Given the description of an element on the screen output the (x, y) to click on. 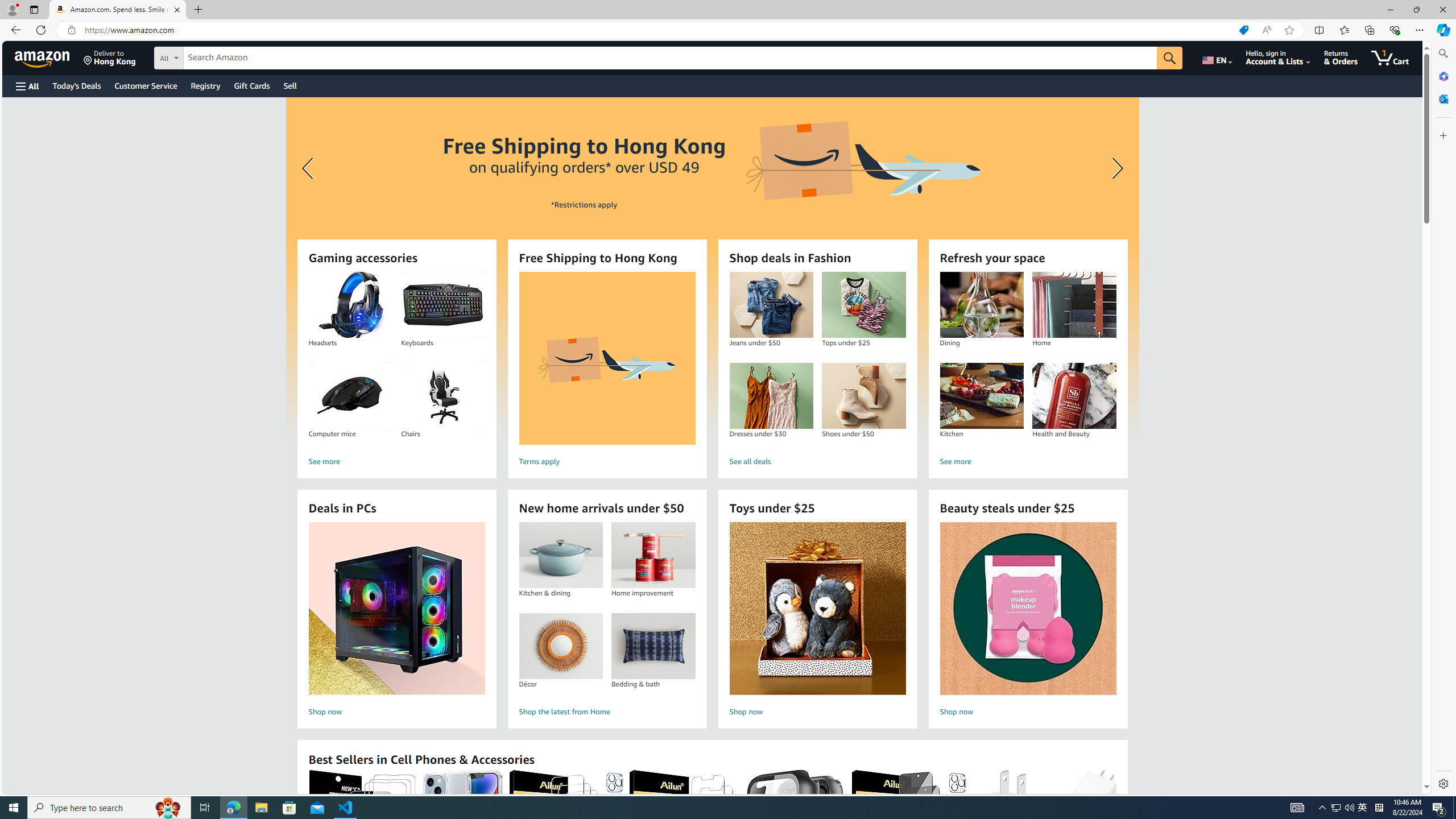
Keyboards (442, 304)
Shop the latest from Home (606, 712)
Free Shipping to Hong Kong Learn more (711, 267)
See all deals (817, 461)
Search in (210, 56)
Computer mice (350, 395)
Toys under $25 Shop now (817, 620)
Search Amazon (670, 57)
Kitchen & dining (560, 555)
